Given the description of an element on the screen output the (x, y) to click on. 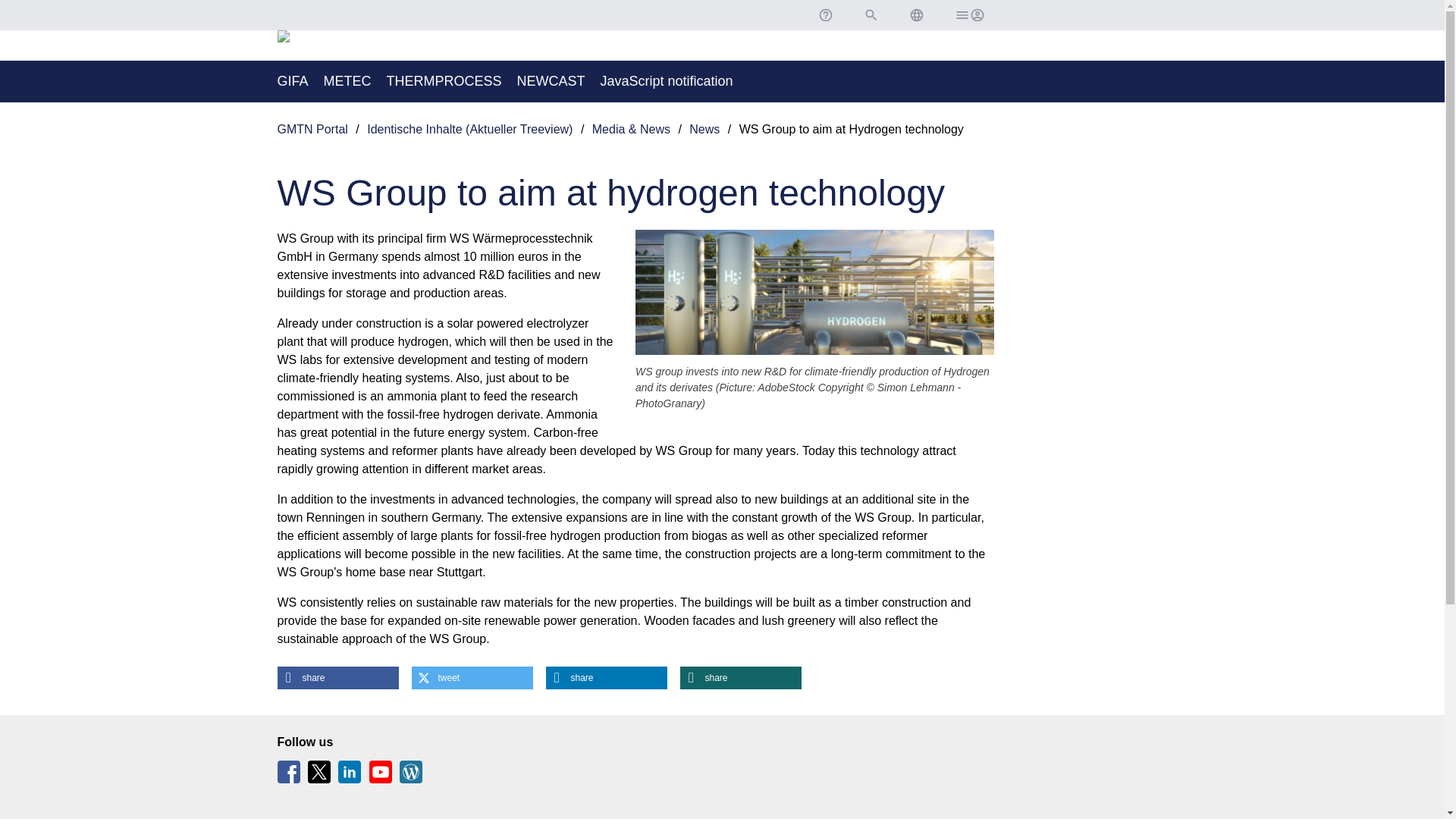
Support (824, 14)
Login (968, 14)
Search (870, 14)
English (915, 14)
